Given the description of an element on the screen output the (x, y) to click on. 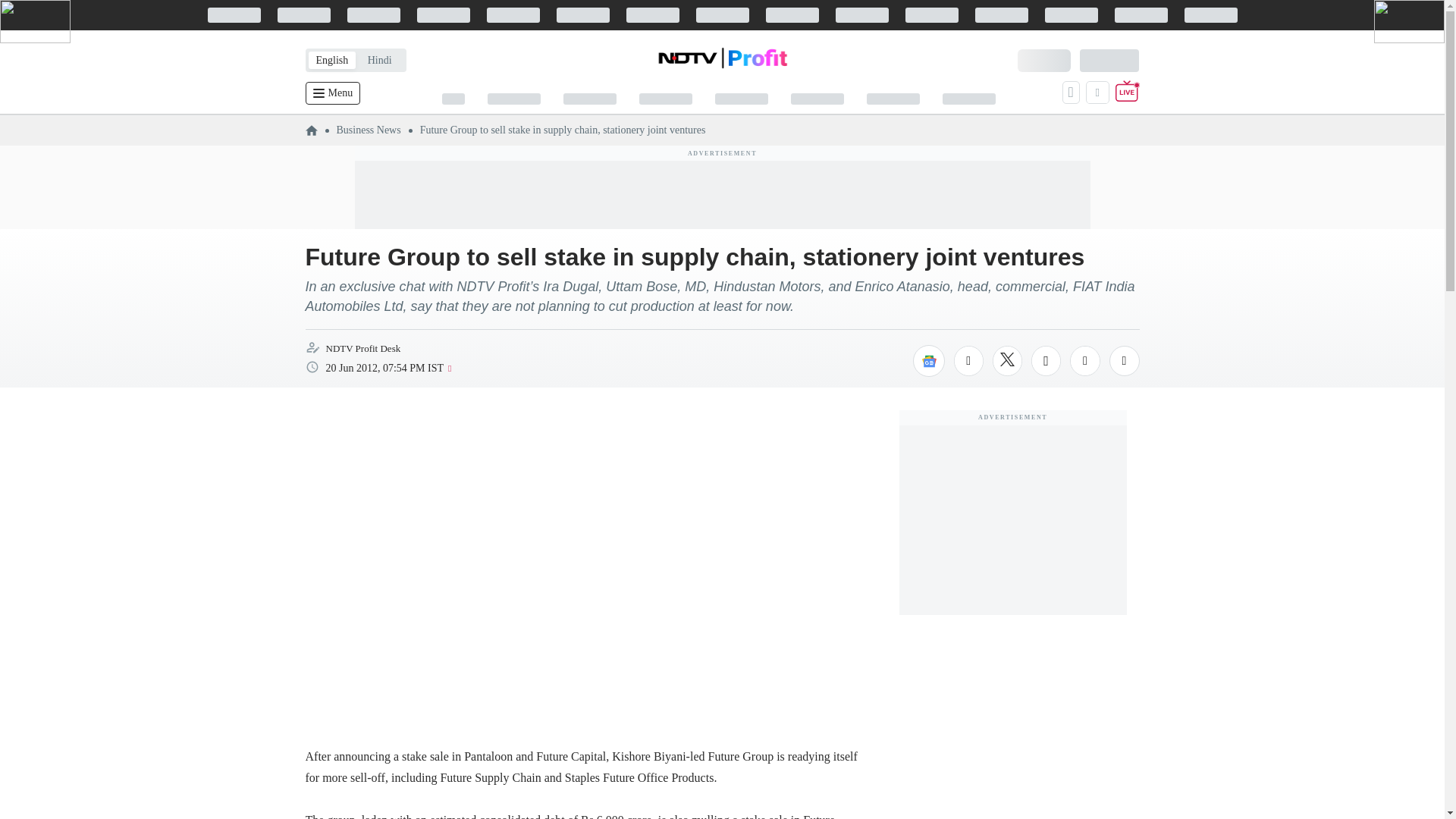
Hindi (379, 59)
Live TV (1127, 92)
Menu (331, 92)
English (331, 59)
Hindi (378, 59)
